Given the description of an element on the screen output the (x, y) to click on. 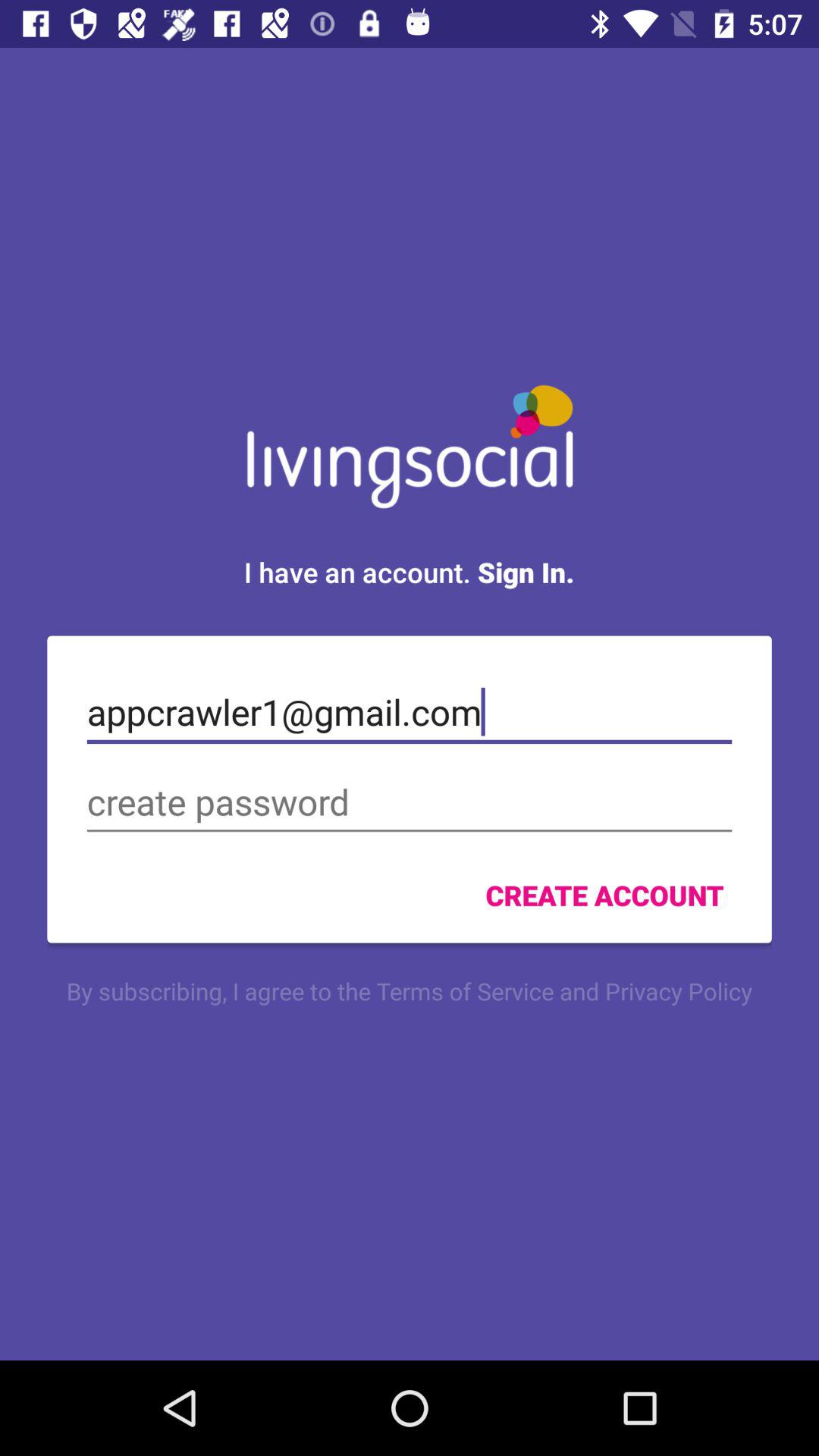
press the item on the right (604, 894)
